Given the description of an element on the screen output the (x, y) to click on. 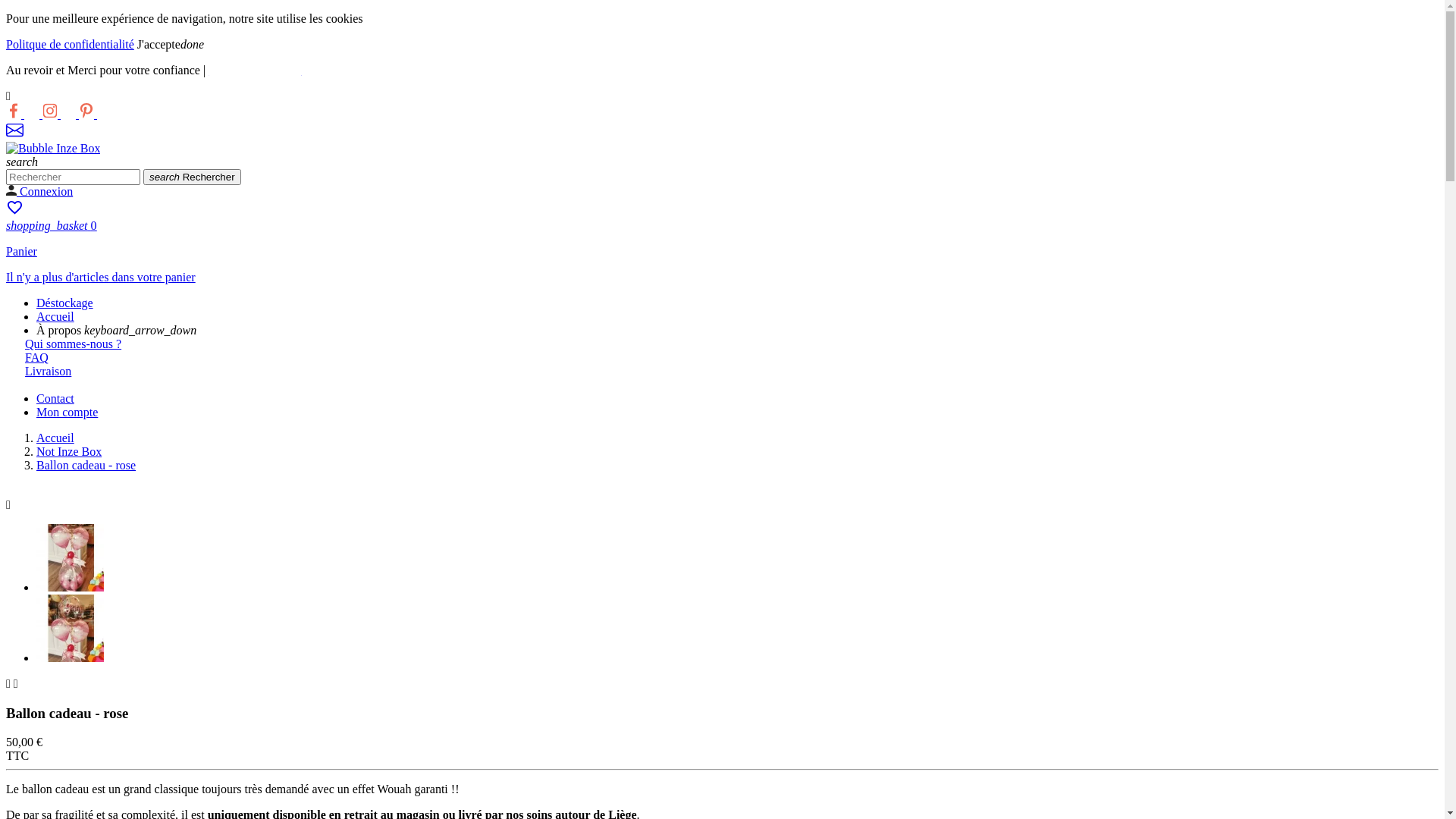
Qui sommes-nous ? Element type: text (73, 343)
shopping_basket 0 Element type: text (51, 225)
Accueil Element type: text (55, 316)
Accueil Element type: text (55, 437)
Ballon cadeau - rose Element type: text (85, 464)
Mon compte Element type: text (66, 411)
Mes favoris Element type: hover (14, 211)
Not Inze Box Element type: text (68, 451)
FAQ Element type: text (36, 357)
Livraison Element type: text (48, 370)
search Rechercher Element type: text (192, 177)
Connexion Element type: text (39, 191)
Contact Element type: text (55, 398)
